Given the description of an element on the screen output the (x, y) to click on. 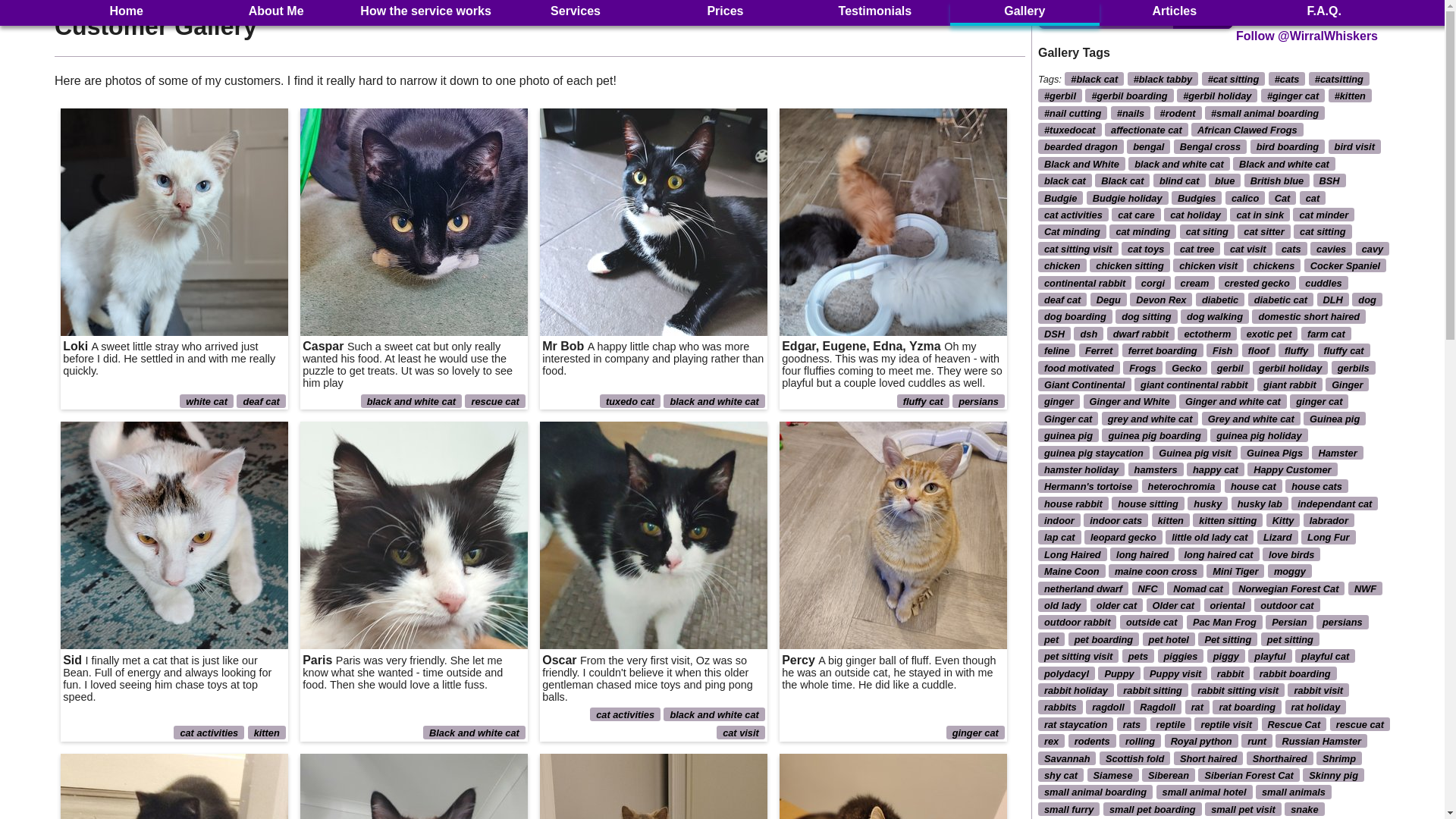
cat visit (740, 732)
Prices (724, 12)
persians (978, 400)
Percy (892, 535)
Gallery (1024, 12)
Pickle (174, 786)
black and white cat (713, 714)
Caspar (413, 221)
Testimonials (874, 12)
rescue cat (494, 400)
